Given the description of an element on the screen output the (x, y) to click on. 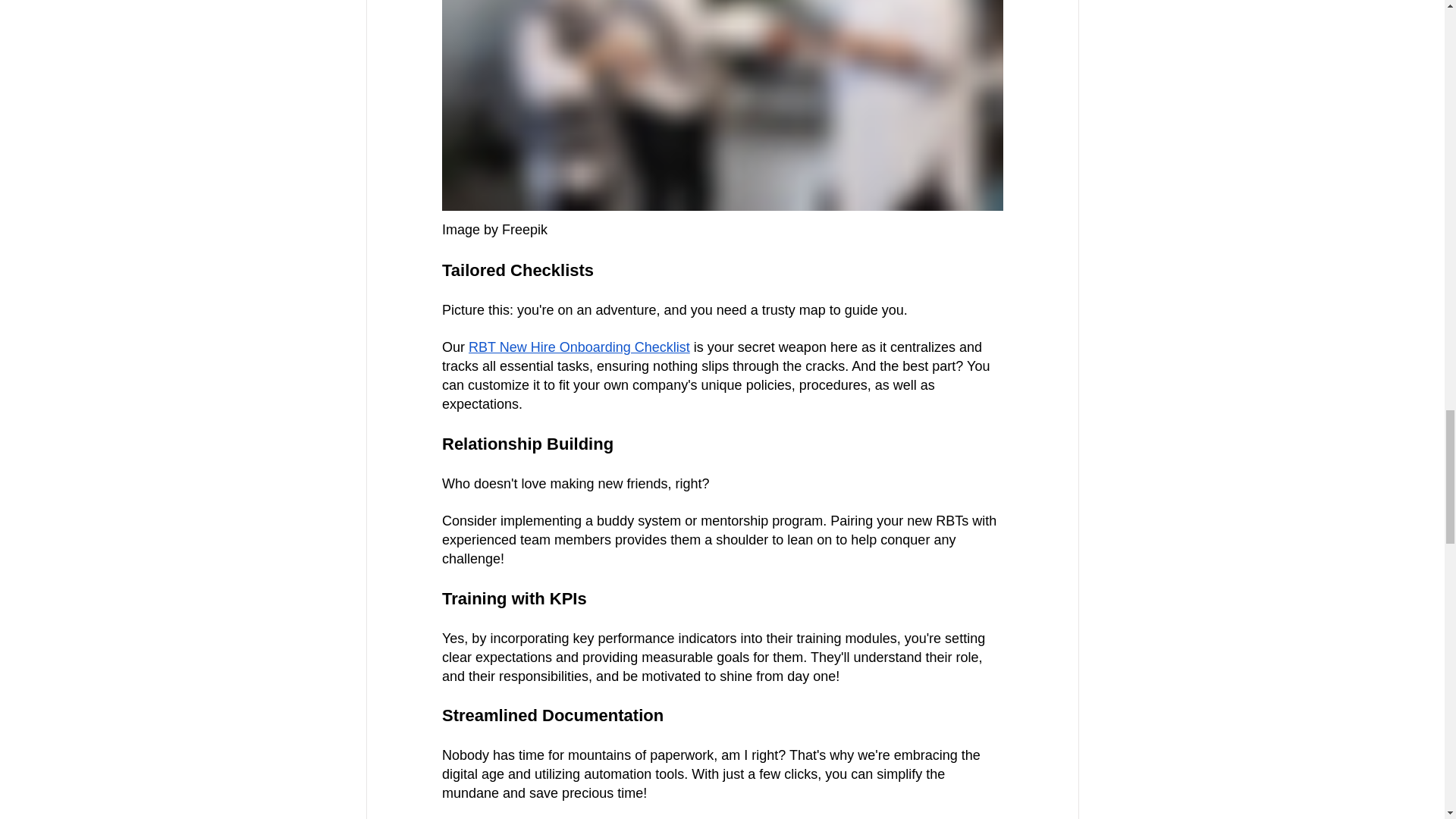
RBT New Hire Onboarding Checklist (579, 346)
